Given the description of an element on the screen output the (x, y) to click on. 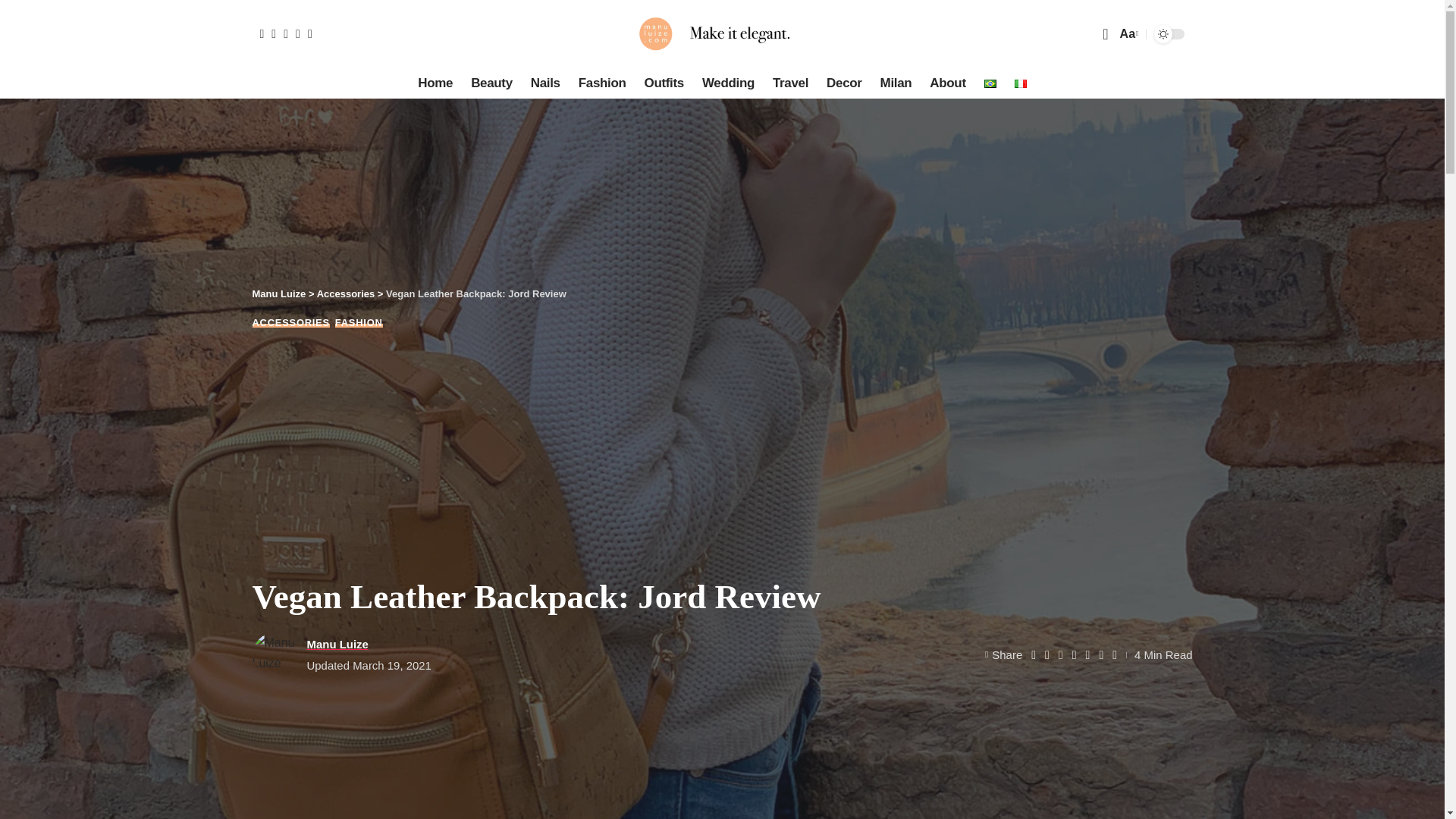
Aa (1127, 33)
Go to the Accessories Category archives. (346, 293)
Go to Manu Luize. (278, 293)
Manu Luize (721, 33)
Outfits (663, 82)
Milan (895, 82)
Fashion (601, 82)
About (947, 82)
Travel (789, 82)
Wedding (727, 82)
Nails (545, 82)
Beauty (491, 82)
Home (435, 82)
Decor (843, 82)
